Given the description of an element on the screen output the (x, y) to click on. 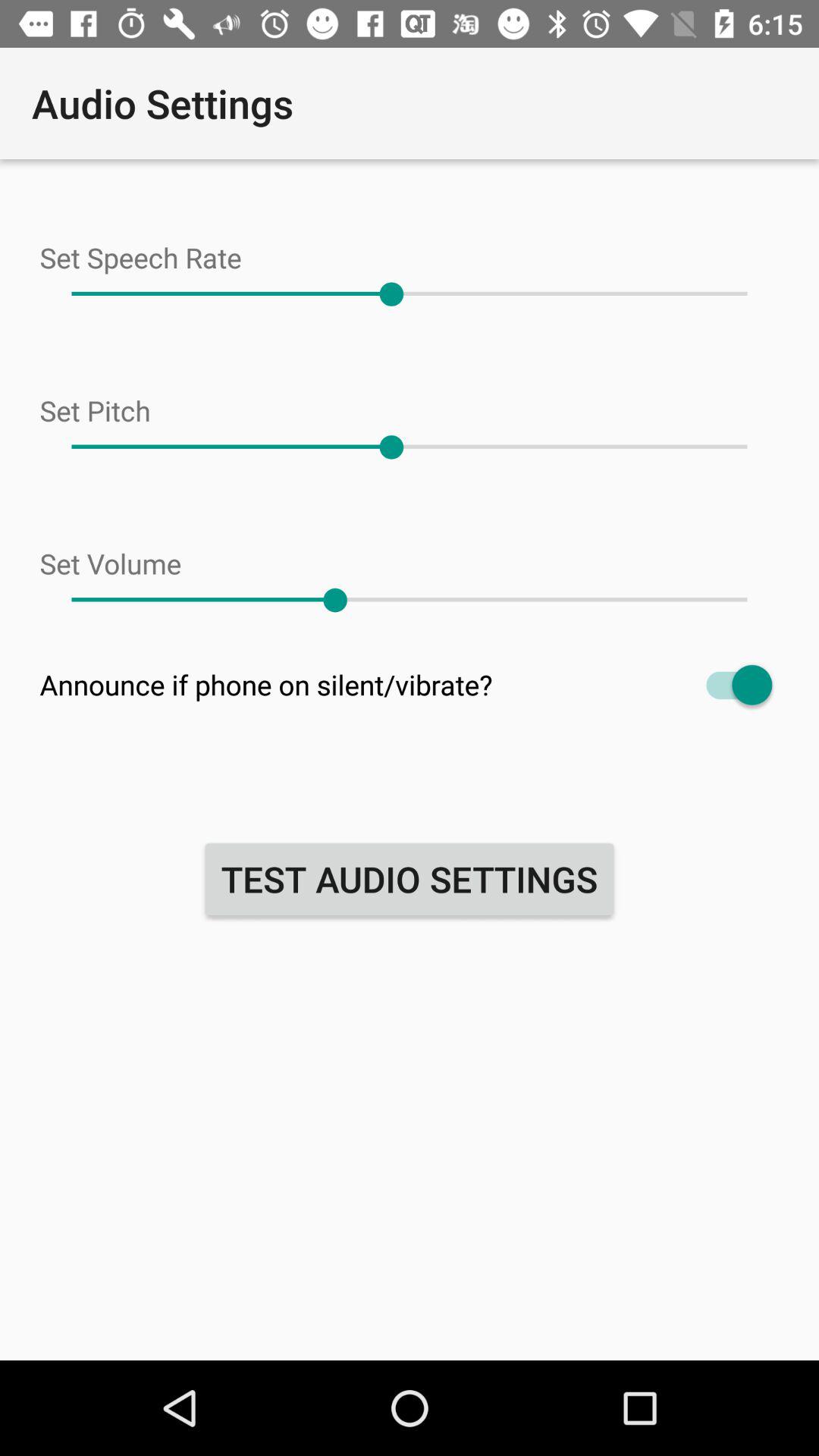
select the announce if phone icon (409, 685)
